Given the description of an element on the screen output the (x, y) to click on. 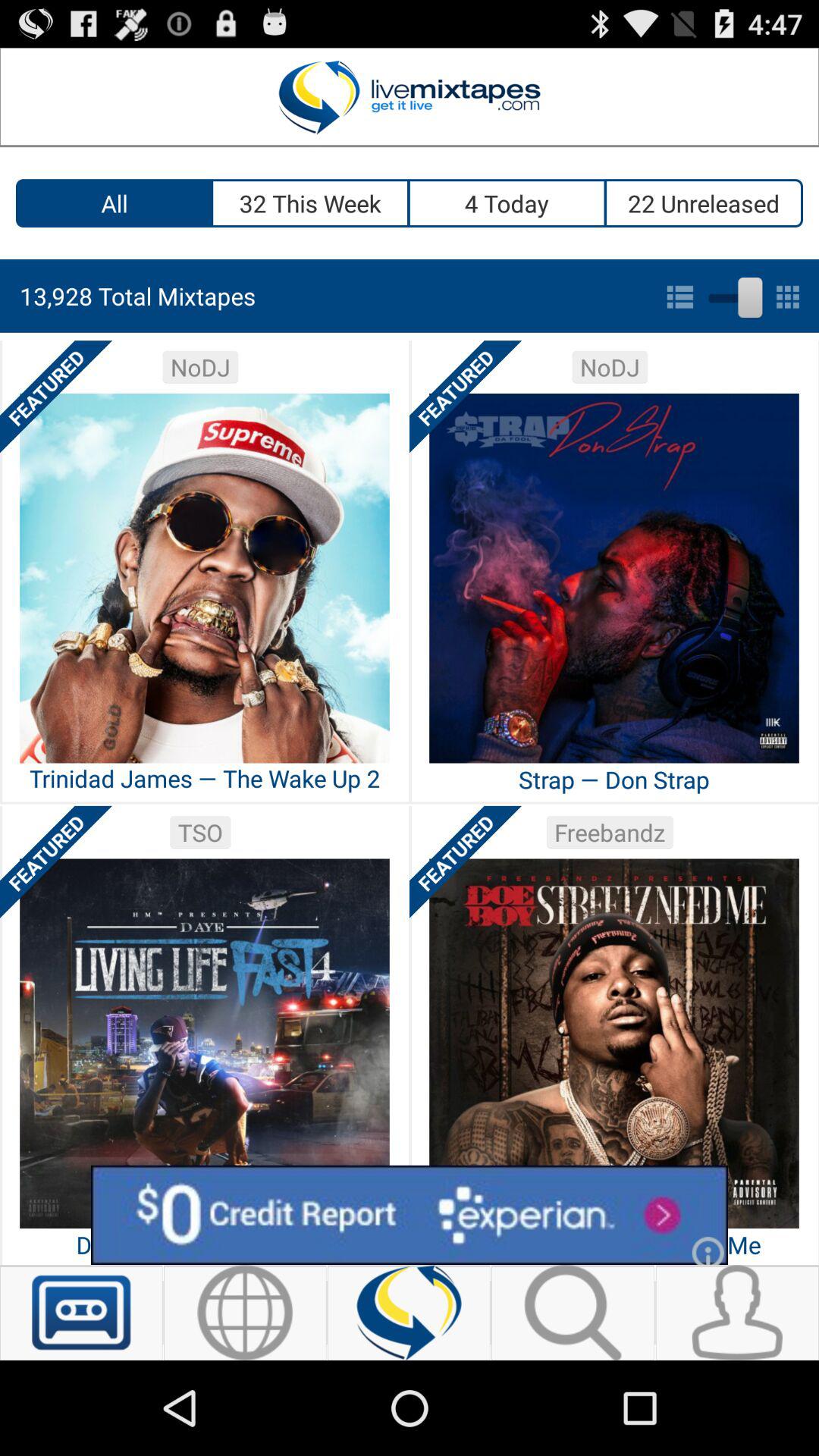
change visualization style (733, 294)
